Given the description of an element on the screen output the (x, y) to click on. 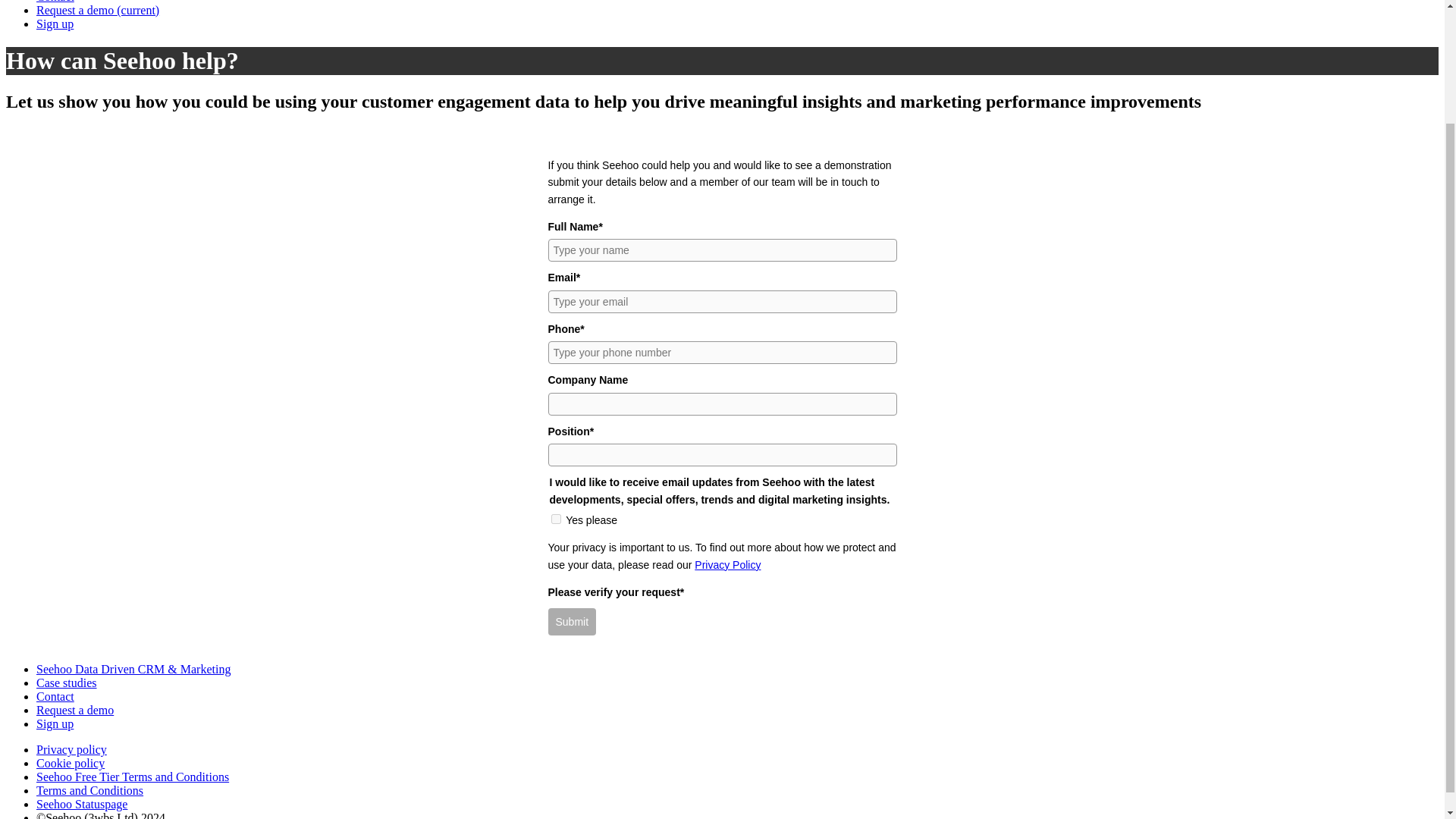
Sign up (55, 723)
Request a demo (74, 709)
Cookie policy (70, 762)
Yes please (555, 519)
Terms and Conditions (89, 789)
Seehoo Free Tier Terms and Conditions (132, 776)
Sign up (55, 23)
Submit (571, 621)
Contact (55, 1)
Privacy policy (71, 748)
